Given the description of an element on the screen output the (x, y) to click on. 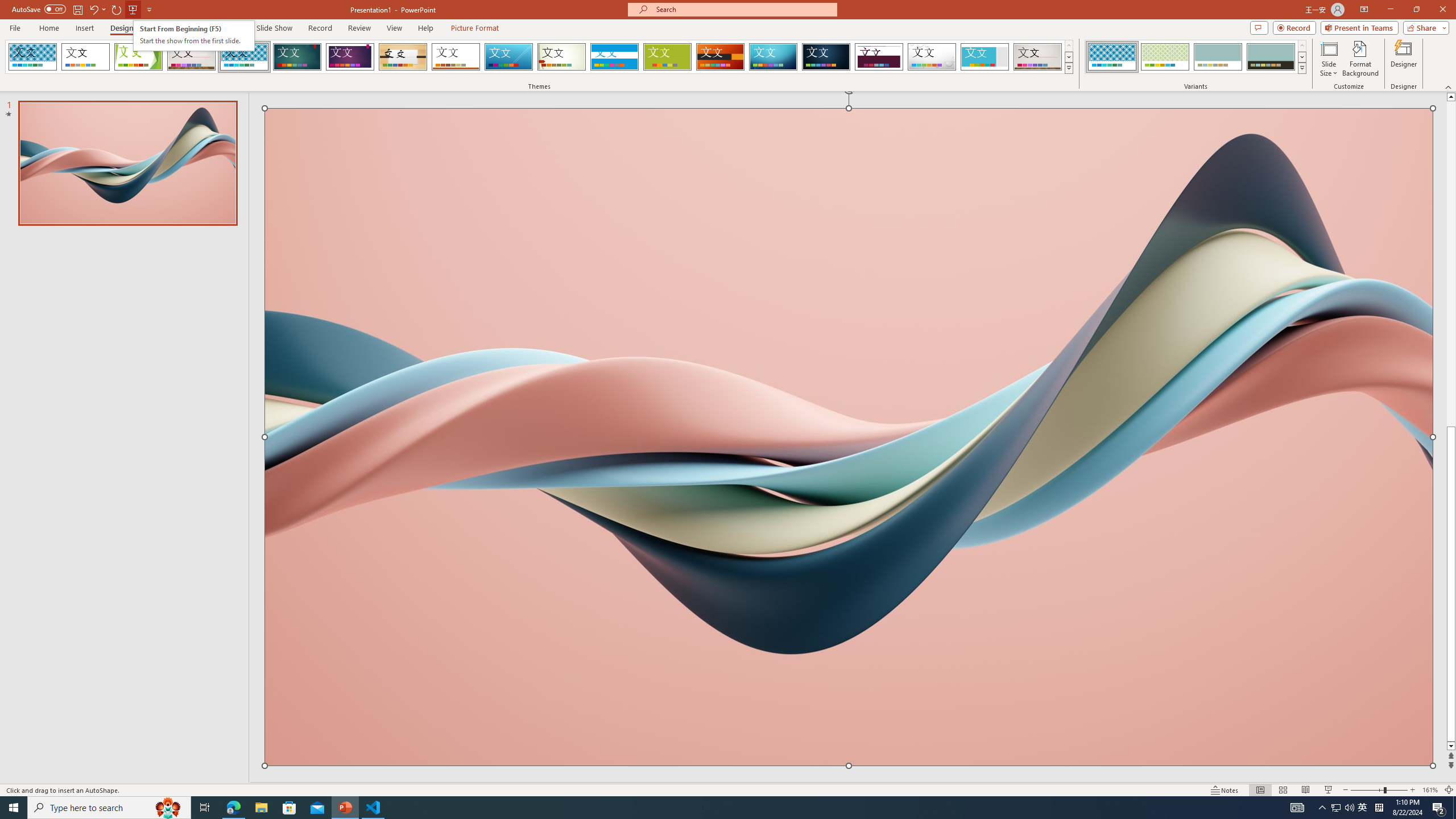
Basis (667, 56)
Zoom 161% (1430, 790)
Office Theme (85, 56)
AutomationID: SlideThemesGallery (539, 56)
AfterglowVTI (32, 56)
